Given the description of an element on the screen output the (x, y) to click on. 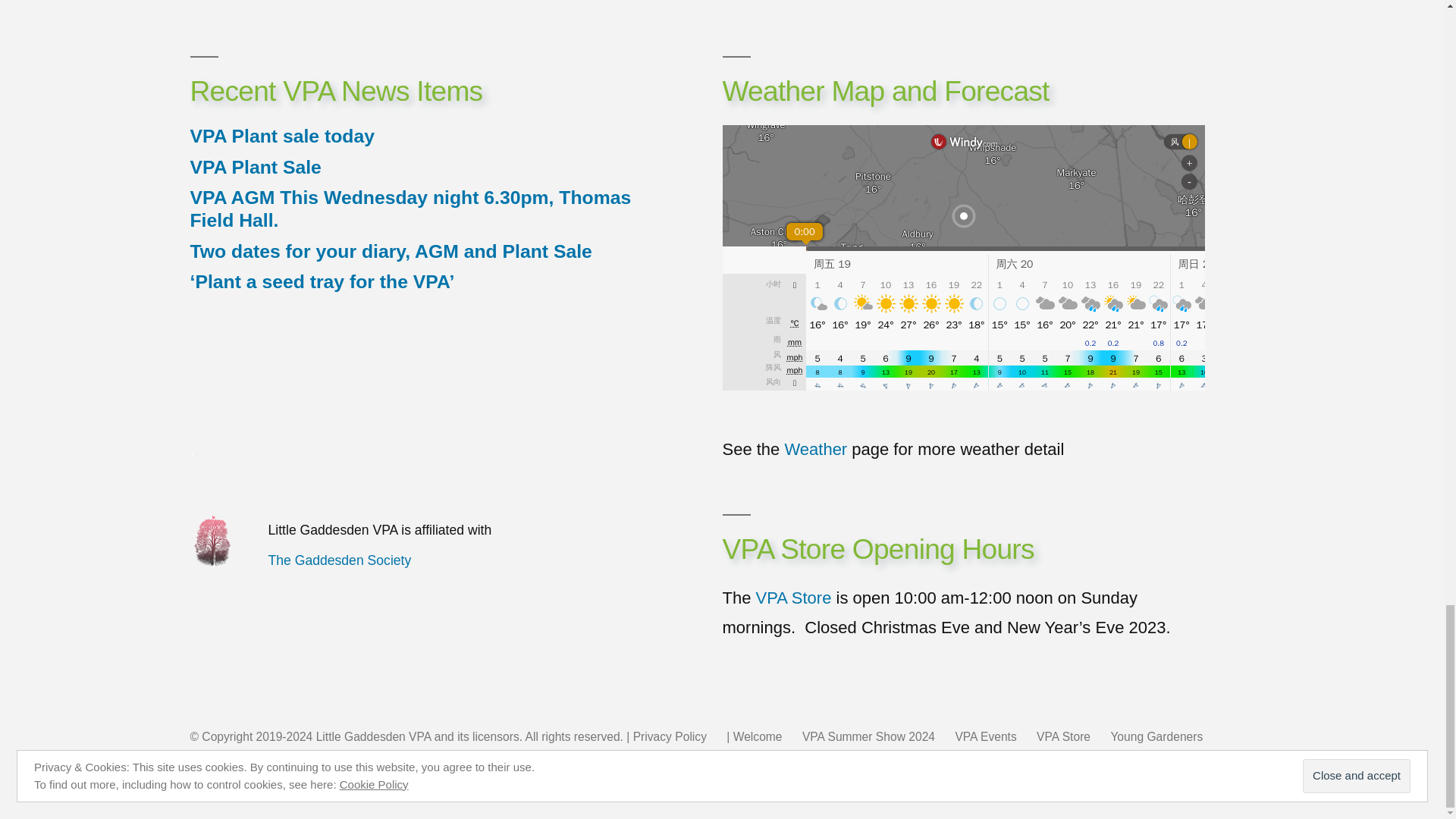
Ventus Weather Map Widget 51.811653 -0.560143 (963, 257)
